Given the description of an element on the screen output the (x, y) to click on. 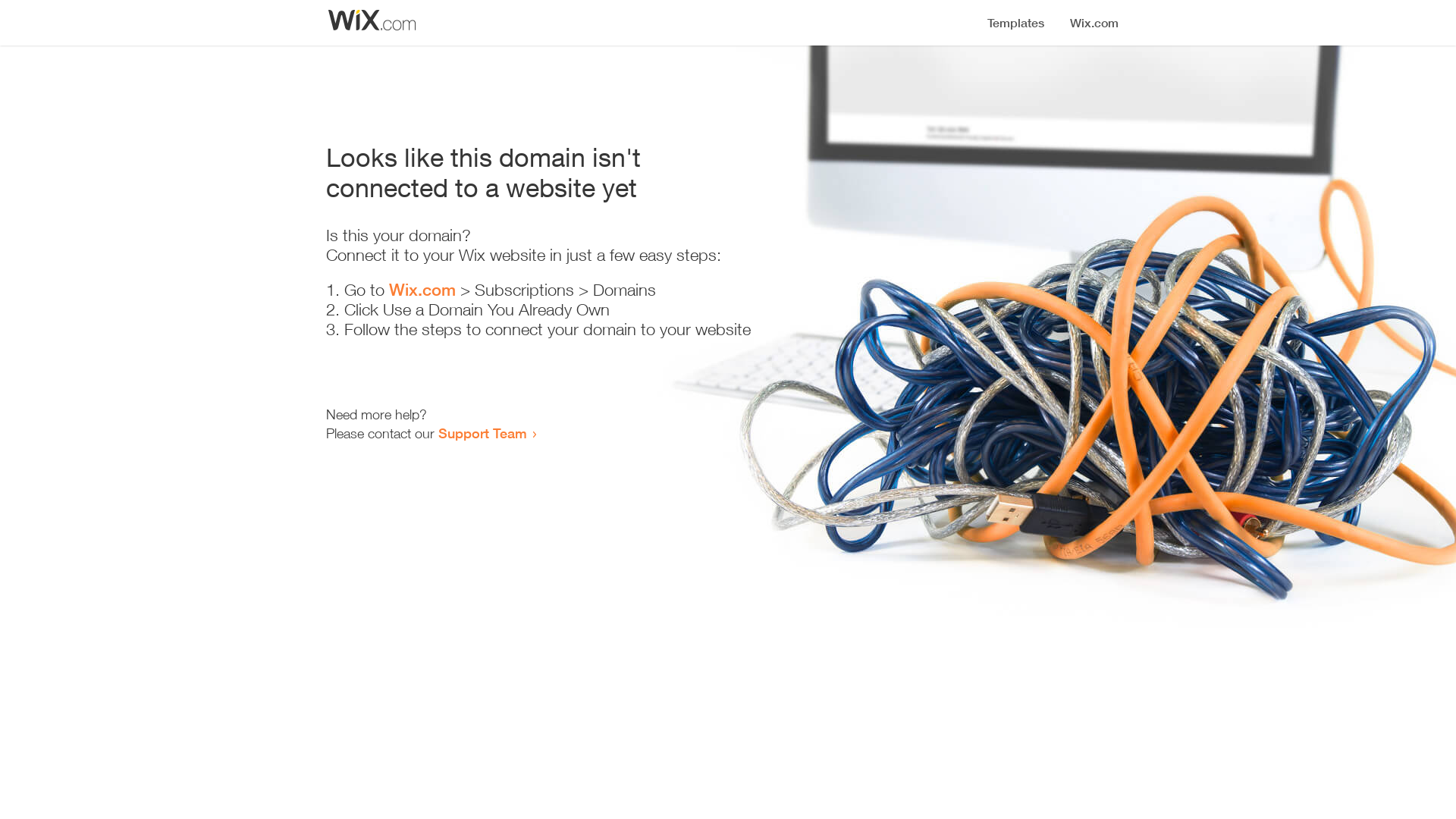
Support Team Element type: text (482, 432)
Wix.com Element type: text (422, 289)
